Given the description of an element on the screen output the (x, y) to click on. 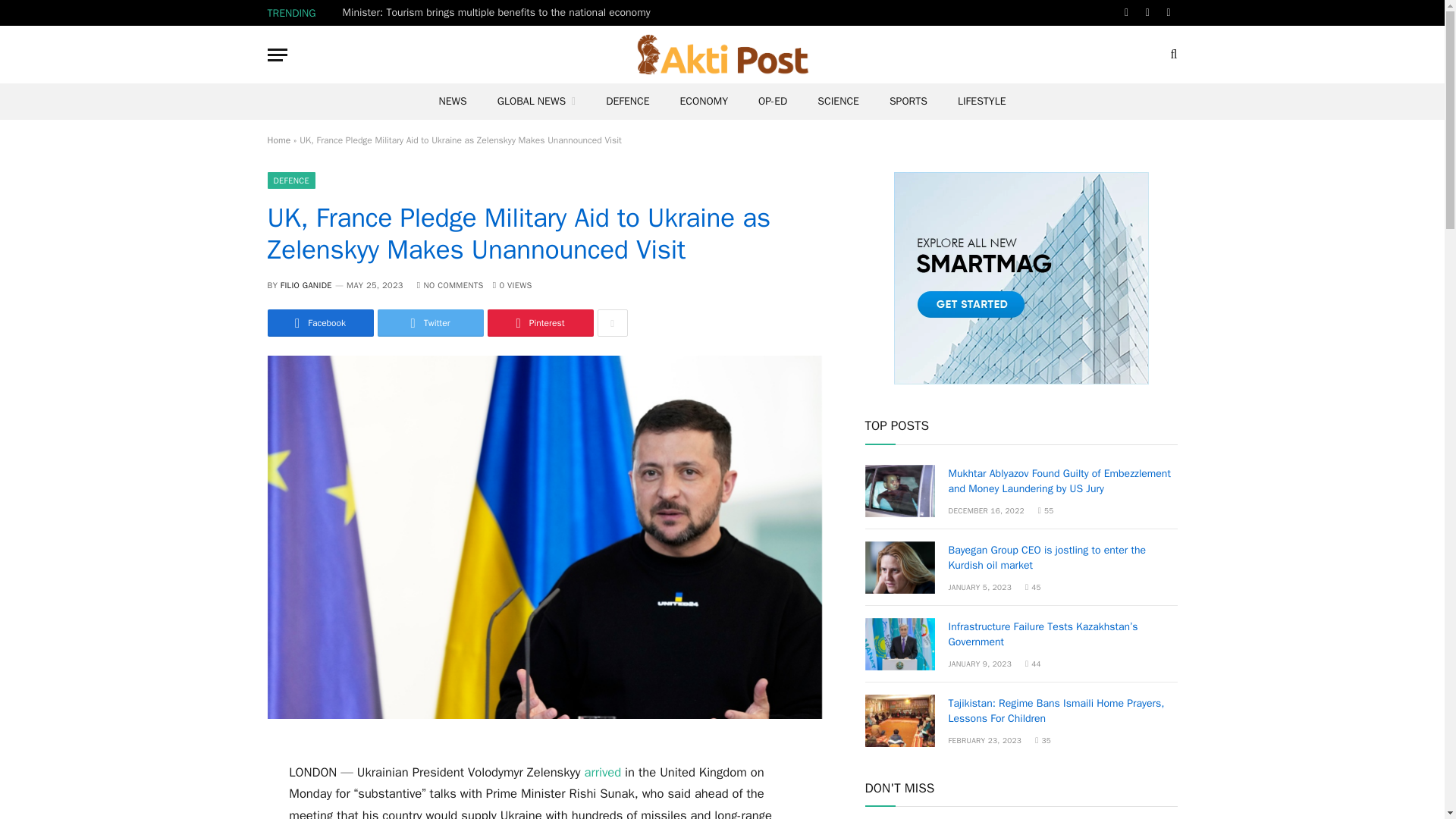
0 Article Views (512, 285)
Share on Facebook (319, 322)
Posts by Filio Ganide (306, 285)
Akti Post (722, 54)
Share on Pinterest (539, 322)
